Given the description of an element on the screen output the (x, y) to click on. 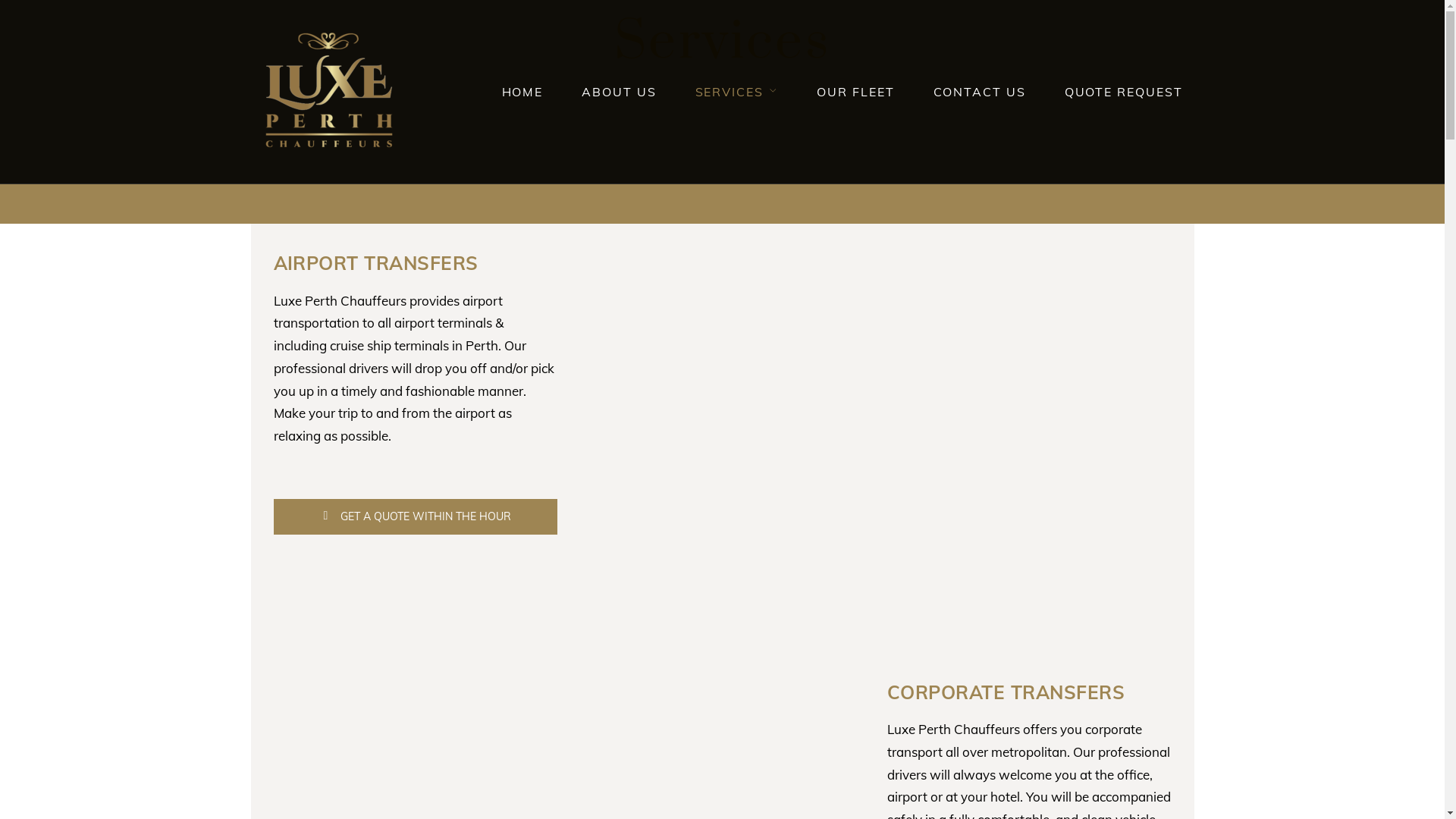
OUR FLEET Element type: text (855, 91)
CORPORATE TRANSFERS Element type: text (1005, 691)
AIRPORT TRANSFERS Element type: text (375, 262)
SERVICES Element type: text (736, 91)
ABOUT US Element type: text (618, 91)
GET A QUOTE WITHIN THE HOUR Element type: text (415, 516)
CONTACT US Element type: text (978, 91)
HOME Element type: text (522, 91)
QUOTE REQUEST Element type: text (1123, 91)
